Given the description of an element on the screen output the (x, y) to click on. 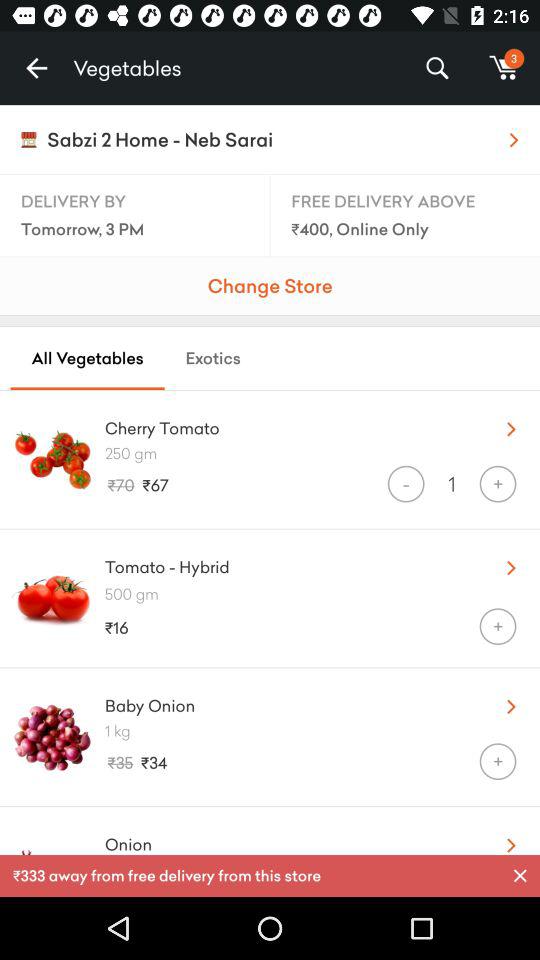
turn off icon to the left of the u item (288, 701)
